Given the description of an element on the screen output the (x, y) to click on. 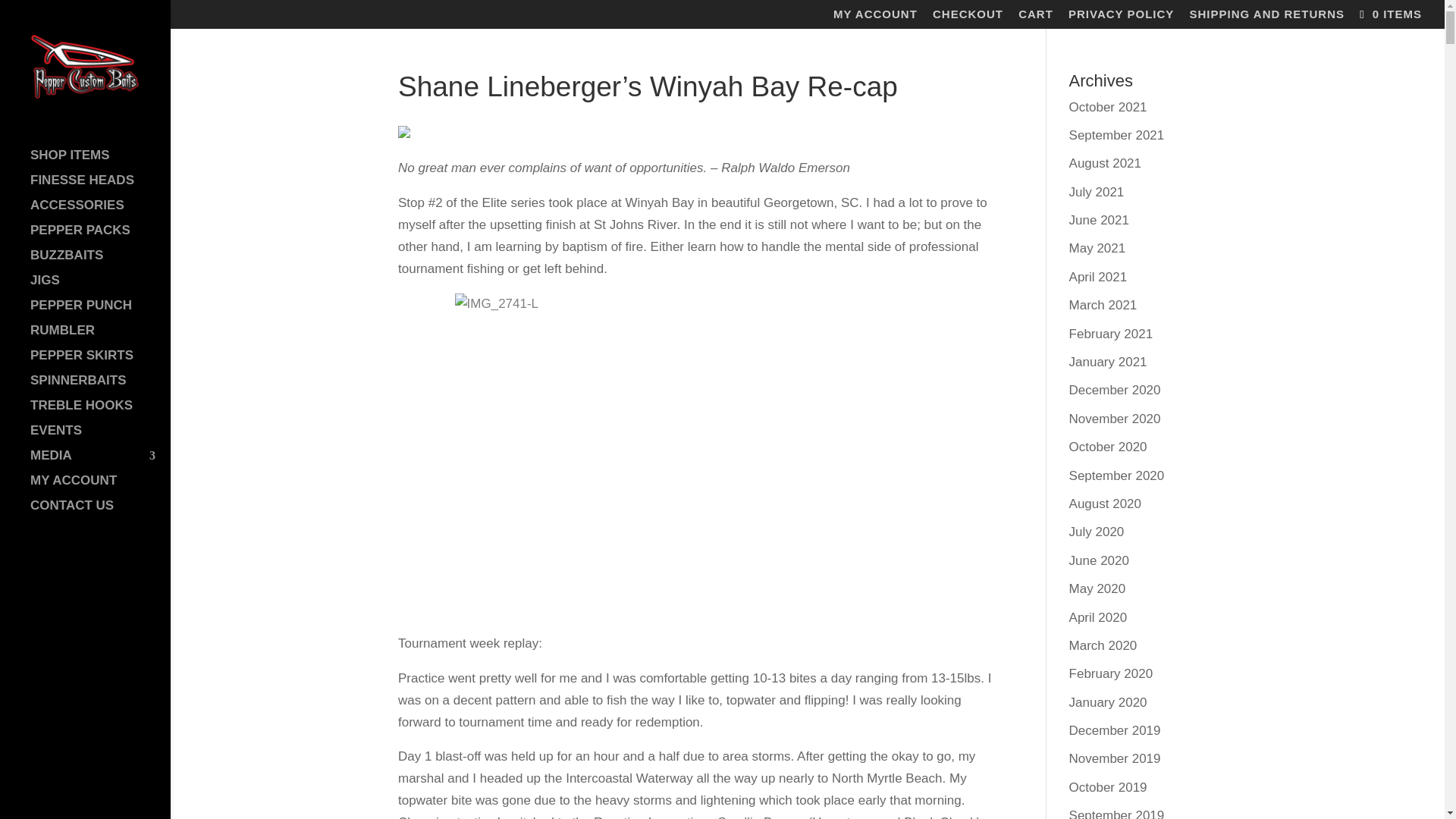
TREBLE HOOKS (100, 412)
March 2021 (1102, 305)
MY ACCOUNT (874, 17)
May 2021 (1096, 247)
SPINNERBAITS (100, 387)
CONTACT US (100, 512)
RUMBLER (100, 337)
September 2021 (1116, 134)
CHECKOUT (968, 17)
FINESSE HEADS (100, 187)
